Given the description of an element on the screen output the (x, y) to click on. 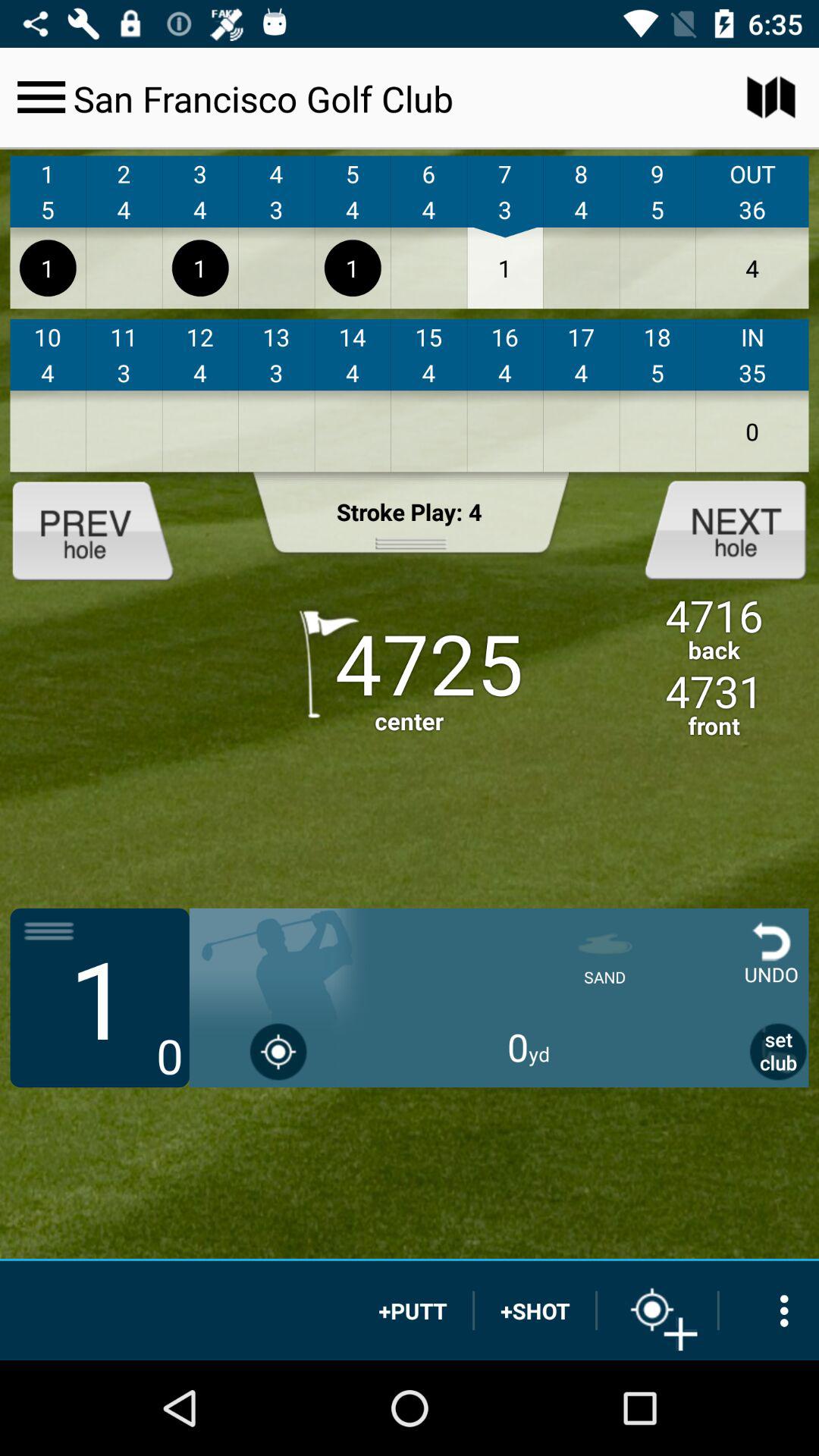
measure distance (657, 1310)
